Given the description of an element on the screen output the (x, y) to click on. 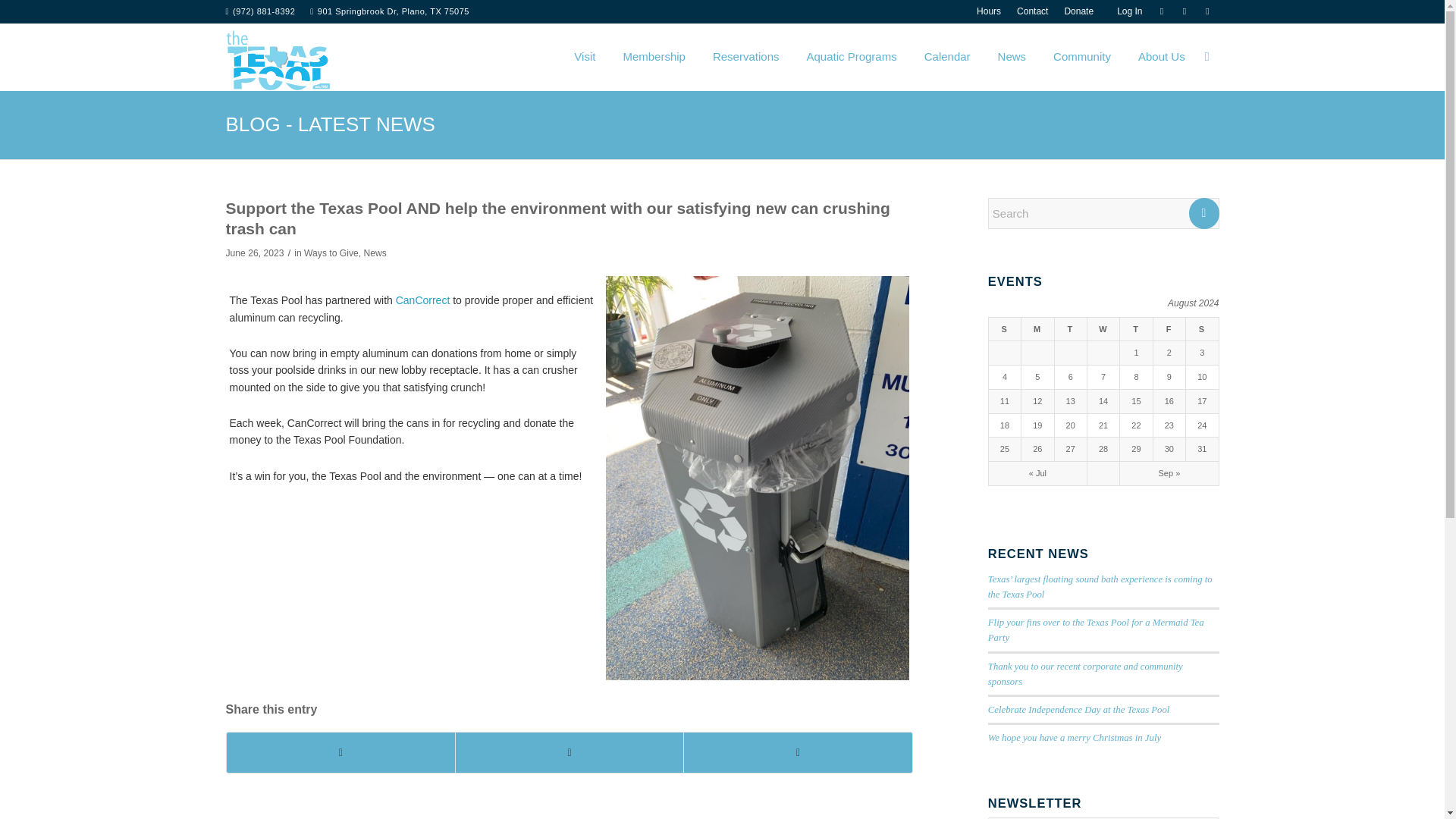
Hours (988, 11)
Facebook (1162, 11)
Calendar (943, 56)
The Texas Pool Logo (278, 60)
Contact (1032, 11)
Click to start search (1204, 213)
Monday (1038, 328)
Log In (1125, 11)
901 Springbrook Dr, Plano, TX 75075 (392, 10)
Reservations (742, 56)
